Given the description of an element on the screen output the (x, y) to click on. 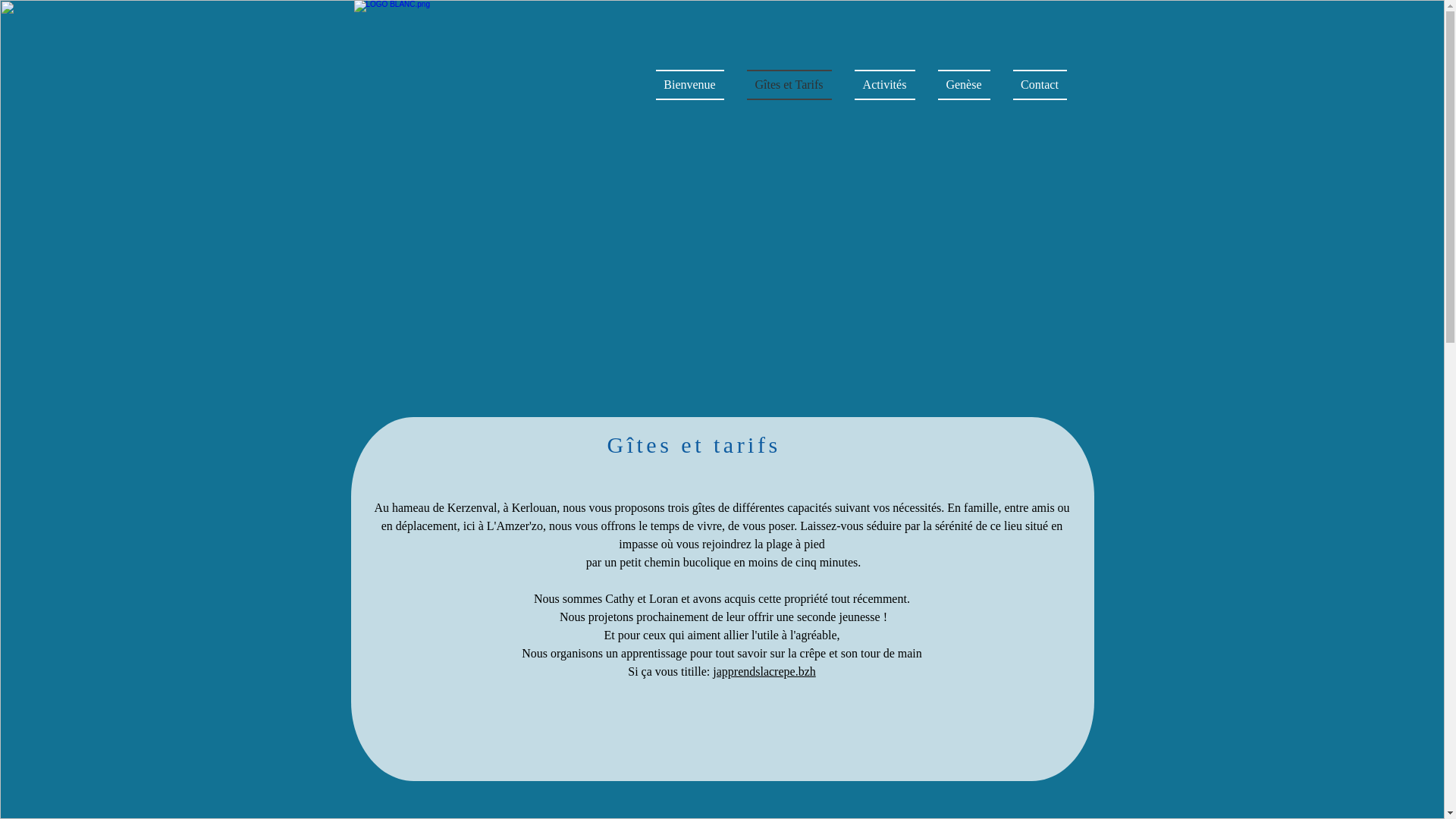
japprendslacrepe.bzh Element type: text (763, 671)
Contact Element type: text (1033, 84)
Bienvenue Element type: text (694, 84)
